Given the description of an element on the screen output the (x, y) to click on. 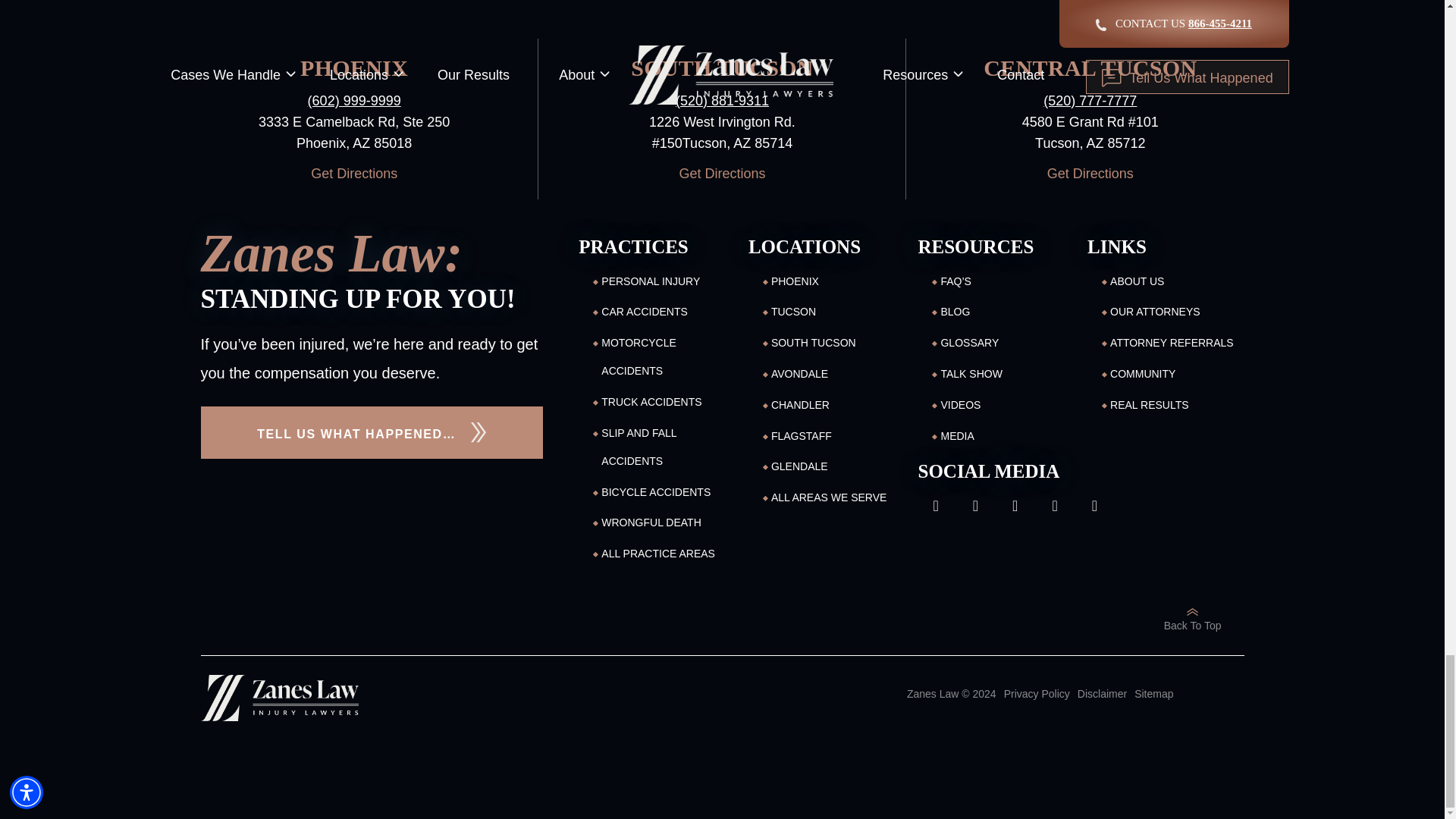
Get Directions (722, 173)
Get Directions (353, 173)
Back To Top (1192, 618)
Get Directions (1089, 173)
